Given the description of an element on the screen output the (x, y) to click on. 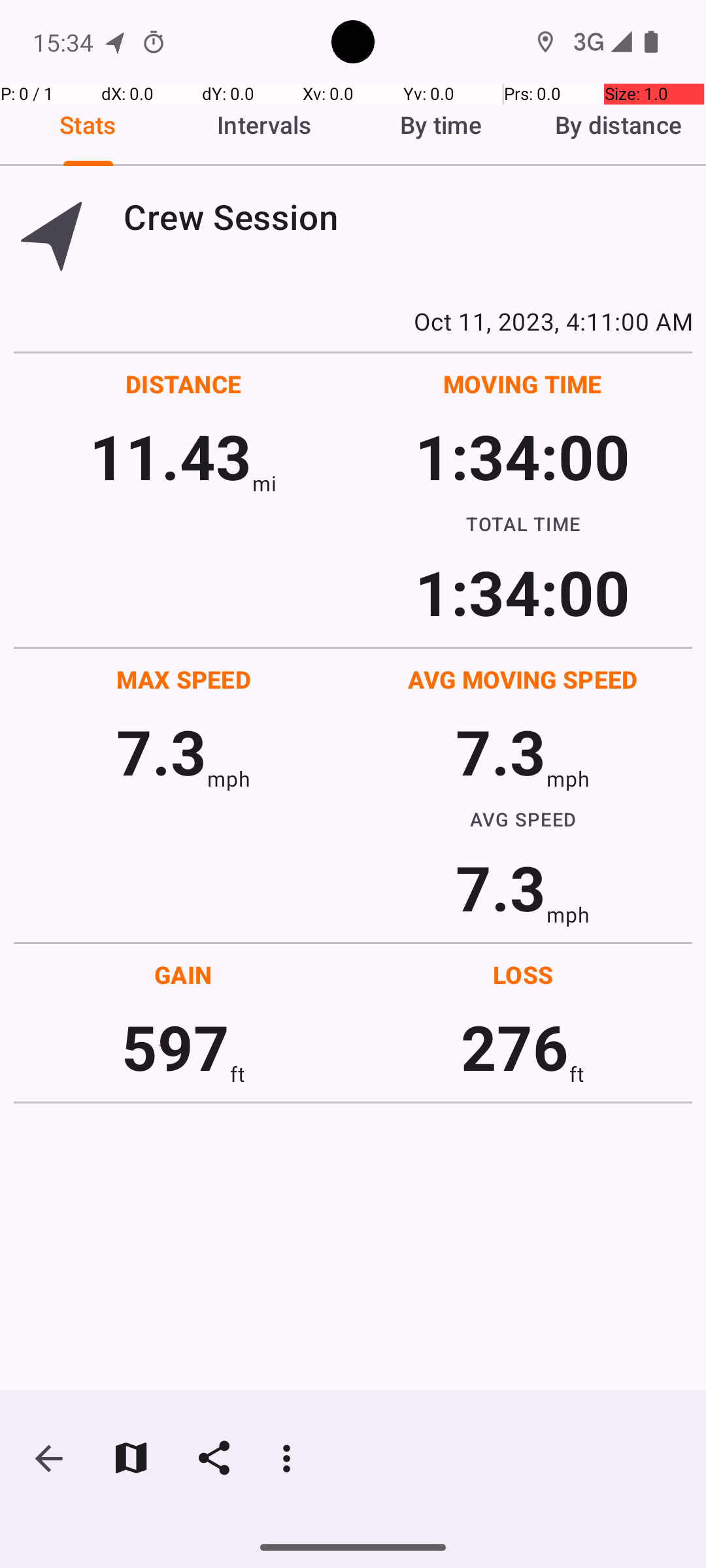
Crew Session Element type: android.widget.TextView (407, 216)
Oct 11, 2023, 4:11:00 AM Element type: android.widget.TextView (352, 320)
11.43 Element type: android.widget.TextView (170, 455)
1:34:00 Element type: android.widget.TextView (522, 455)
7.3 Element type: android.widget.TextView (161, 750)
597 Element type: android.widget.TextView (175, 1045)
276 Element type: android.widget.TextView (514, 1045)
